Given the description of an element on the screen output the (x, y) to click on. 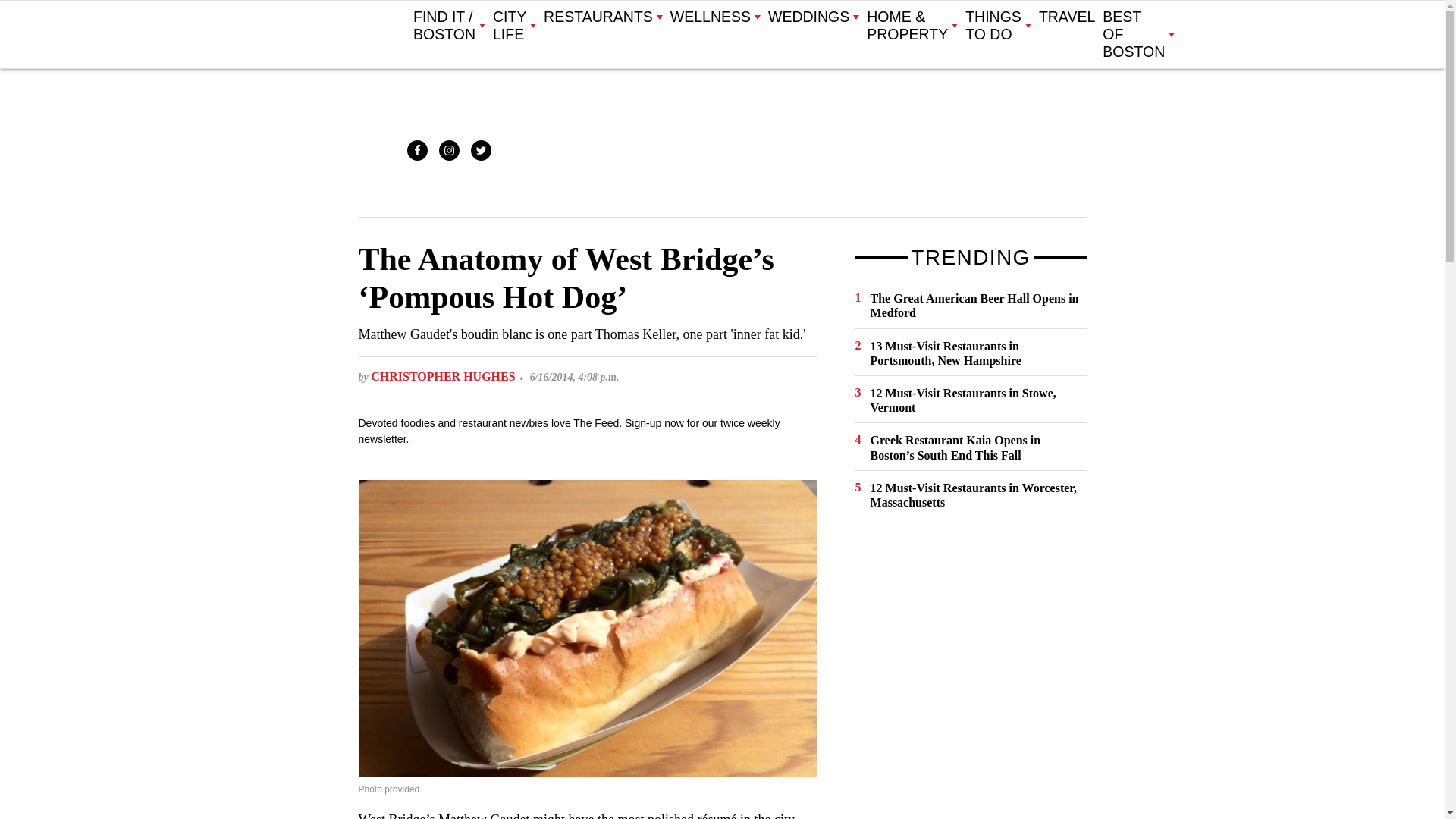
WELLNESS (714, 16)
RESTAURANTS (602, 16)
THINGS TO DO (997, 25)
WEDDINGS (813, 16)
